Given the description of an element on the screen output the (x, y) to click on. 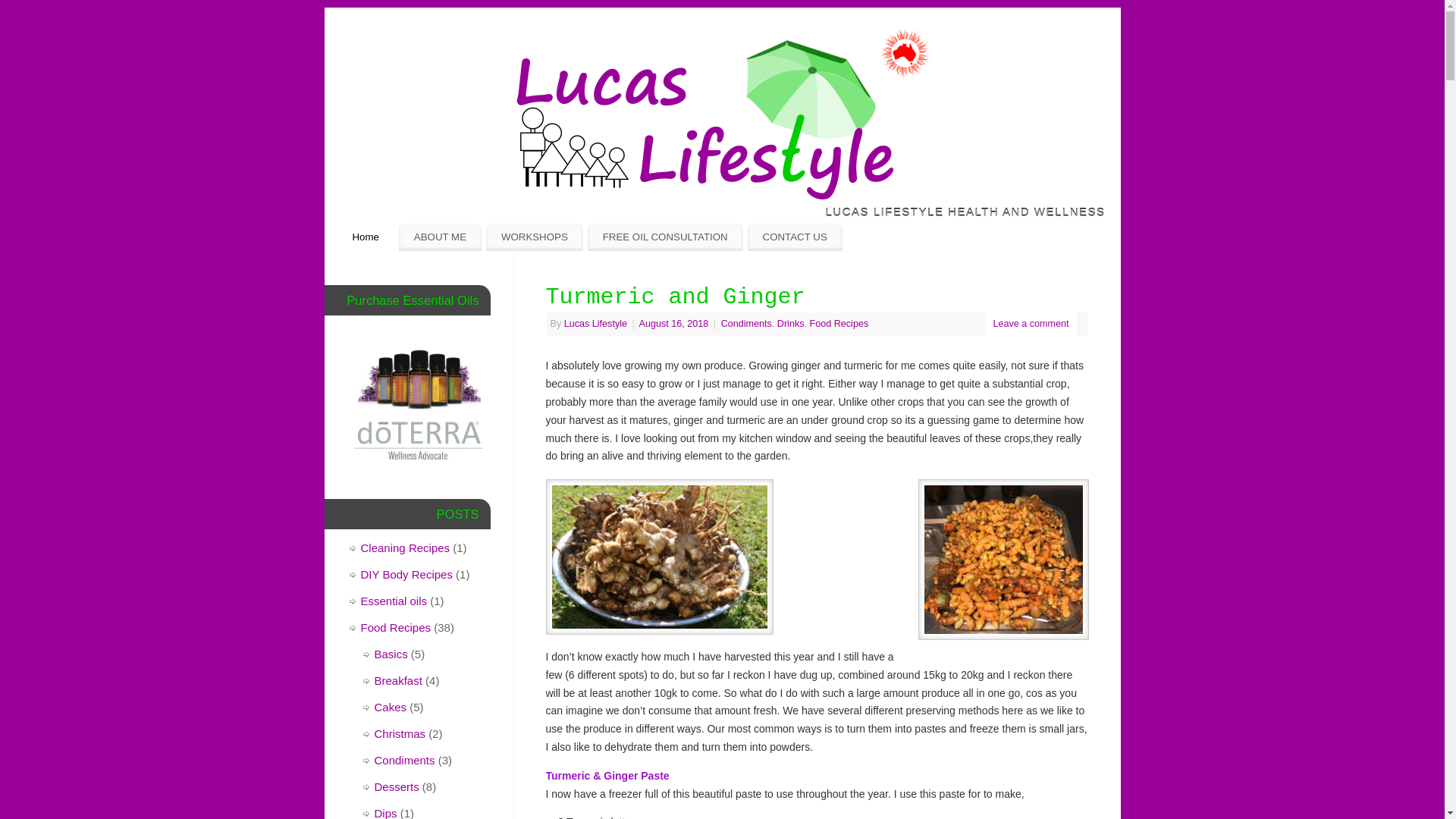
Cleaning Recipes Element type: text (405, 547)
Christmas Element type: text (400, 733)
Food Recipes Element type: text (395, 627)
DIY Body Recipes Element type: text (406, 573)
WORKSHOPS Element type: text (534, 237)
CONTACT US Element type: text (794, 237)
Drinks Element type: text (790, 323)
ABOUT ME Element type: text (439, 237)
Essential oils Element type: text (393, 600)
Condiments Element type: text (746, 323)
Home Element type: text (364, 237)
Cakes Element type: text (390, 706)
Desserts Element type: text (396, 786)
Lucas Lifestyle Element type: text (595, 323)
Basics Element type: text (390, 653)
August 16, 2018 Element type: text (675, 323)
Food Recipes Element type: text (839, 323)
Breakfast Element type: text (398, 680)
FREE OIL CONSULTATION Element type: text (665, 237)
Leave a comment Element type: text (1030, 323)
Condiments Element type: text (404, 759)
Turmeric and Ginger Element type: text (675, 297)
